Given the description of an element on the screen output the (x, y) to click on. 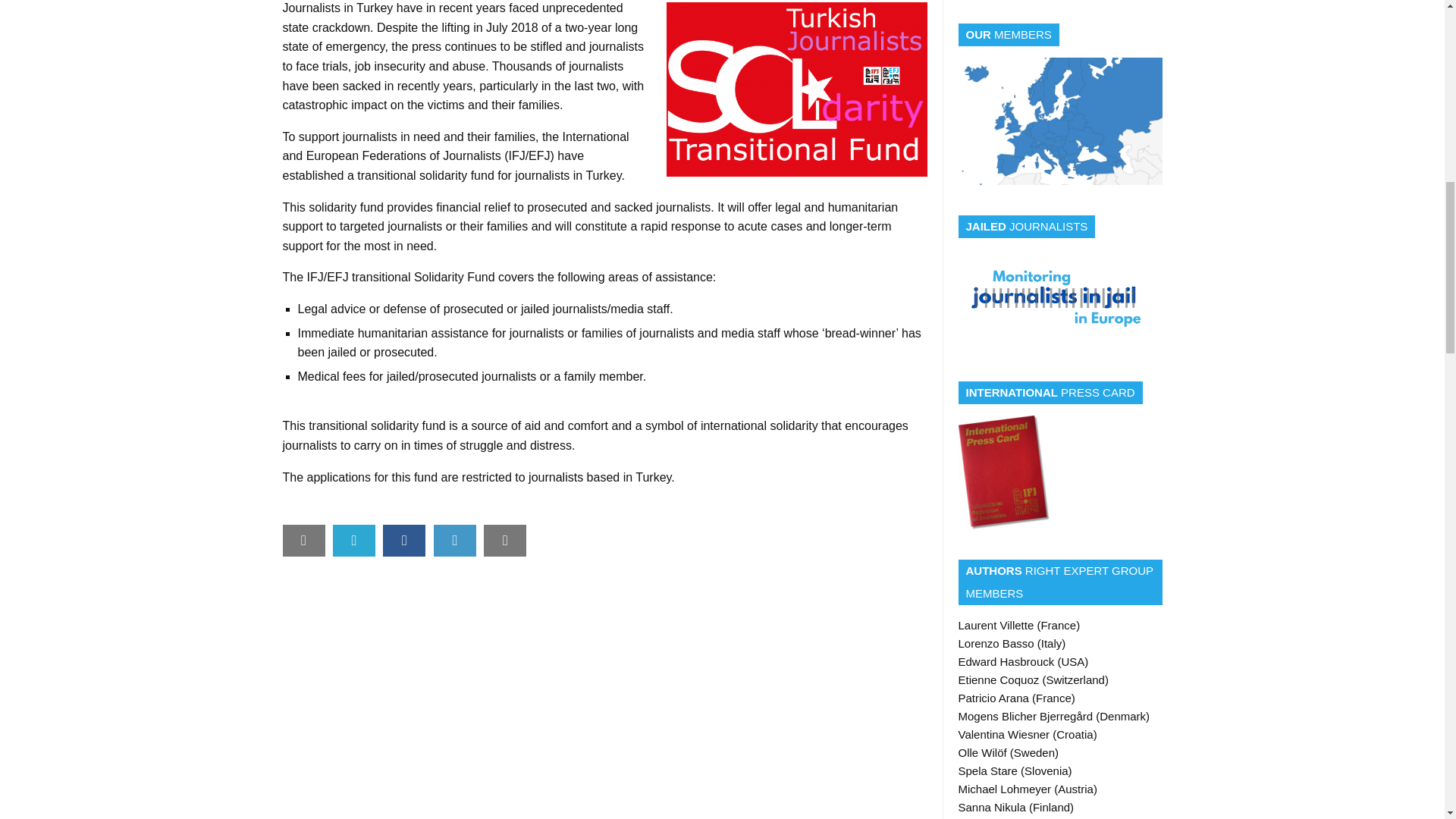
Share on LinkedIn (454, 539)
Share by e-mail (303, 539)
Share on Facebook (403, 540)
